Given the description of an element on the screen output the (x, y) to click on. 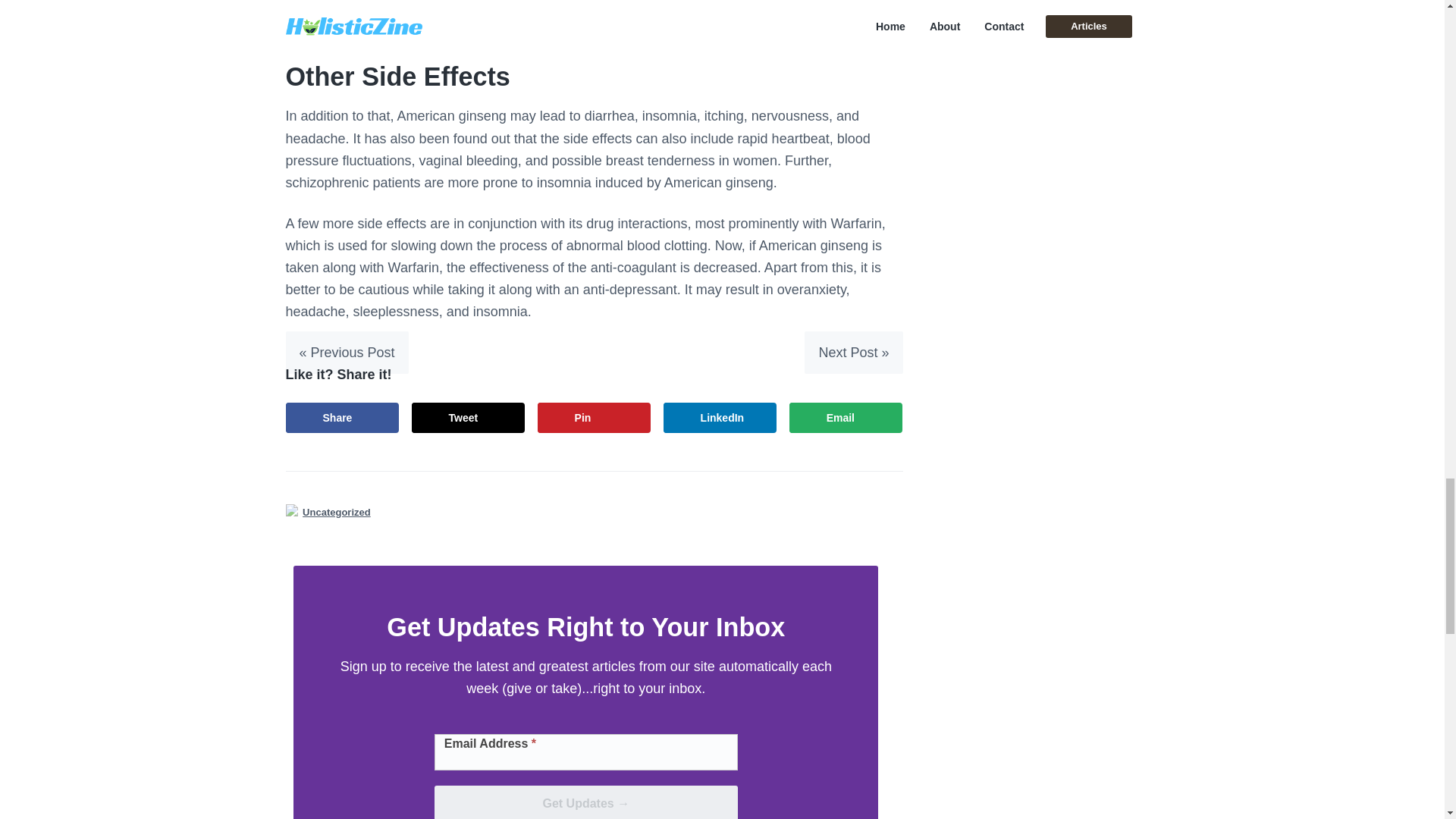
Uncategorized (336, 512)
Save to Pinterest (593, 417)
Pin (593, 417)
Share on X (468, 417)
Share (341, 417)
Share on LinkedIn (720, 417)
LinkedIn (720, 417)
Share on Facebook (341, 417)
Tweet (468, 417)
Email (845, 417)
